Given the description of an element on the screen output the (x, y) to click on. 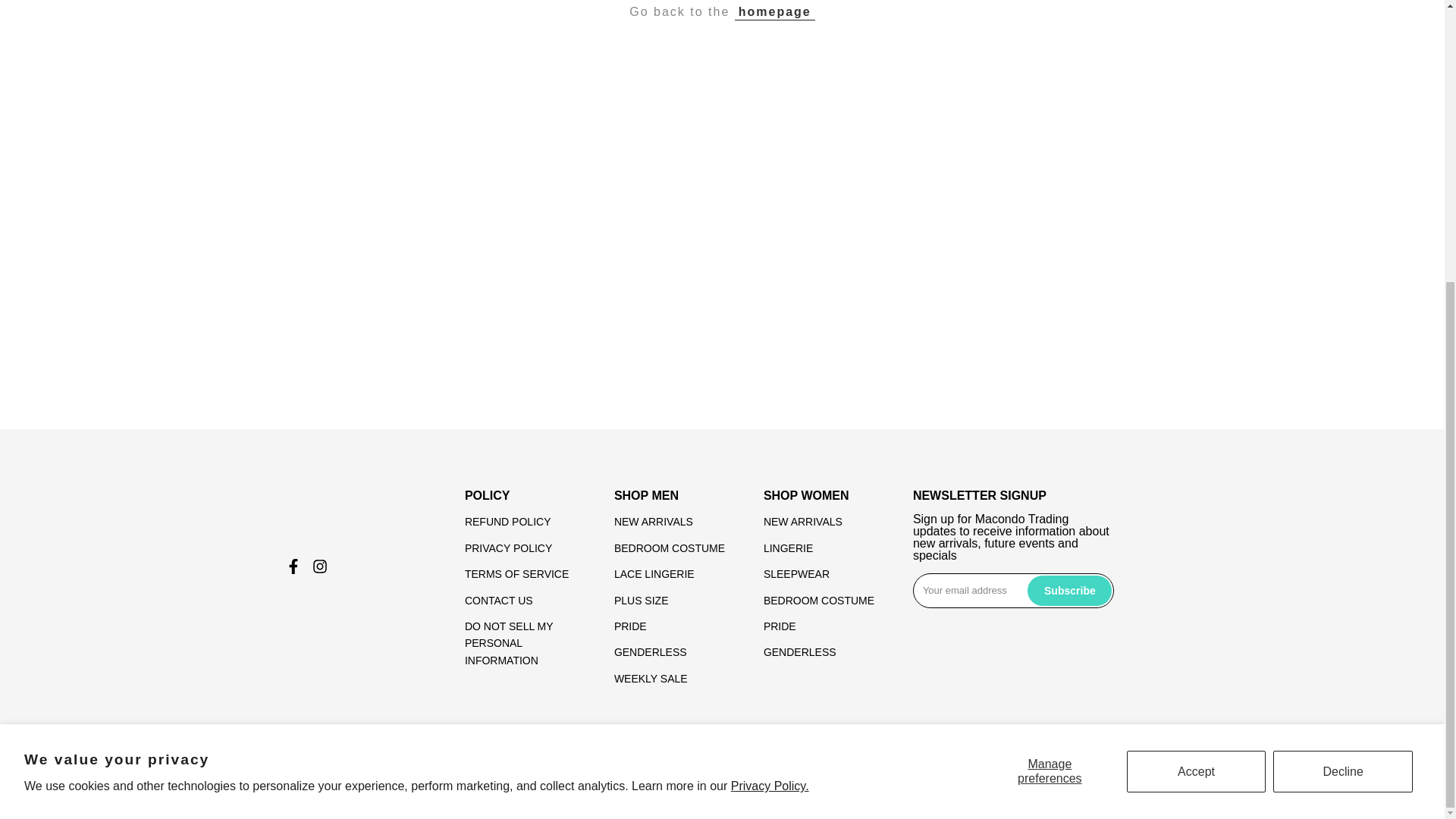
Privacy Policy. (769, 364)
BEDROOM COSTUME (818, 600)
Manage preferences (1049, 349)
PRIVACY POLICY (507, 548)
Accept (1196, 349)
REFUND POLICY (507, 521)
SLEEPWEAR (795, 573)
LACE LINGERIE (654, 573)
TERMS OF SERVICE (516, 573)
PLUS SIZE (641, 600)
